Given the description of an element on the screen output the (x, y) to click on. 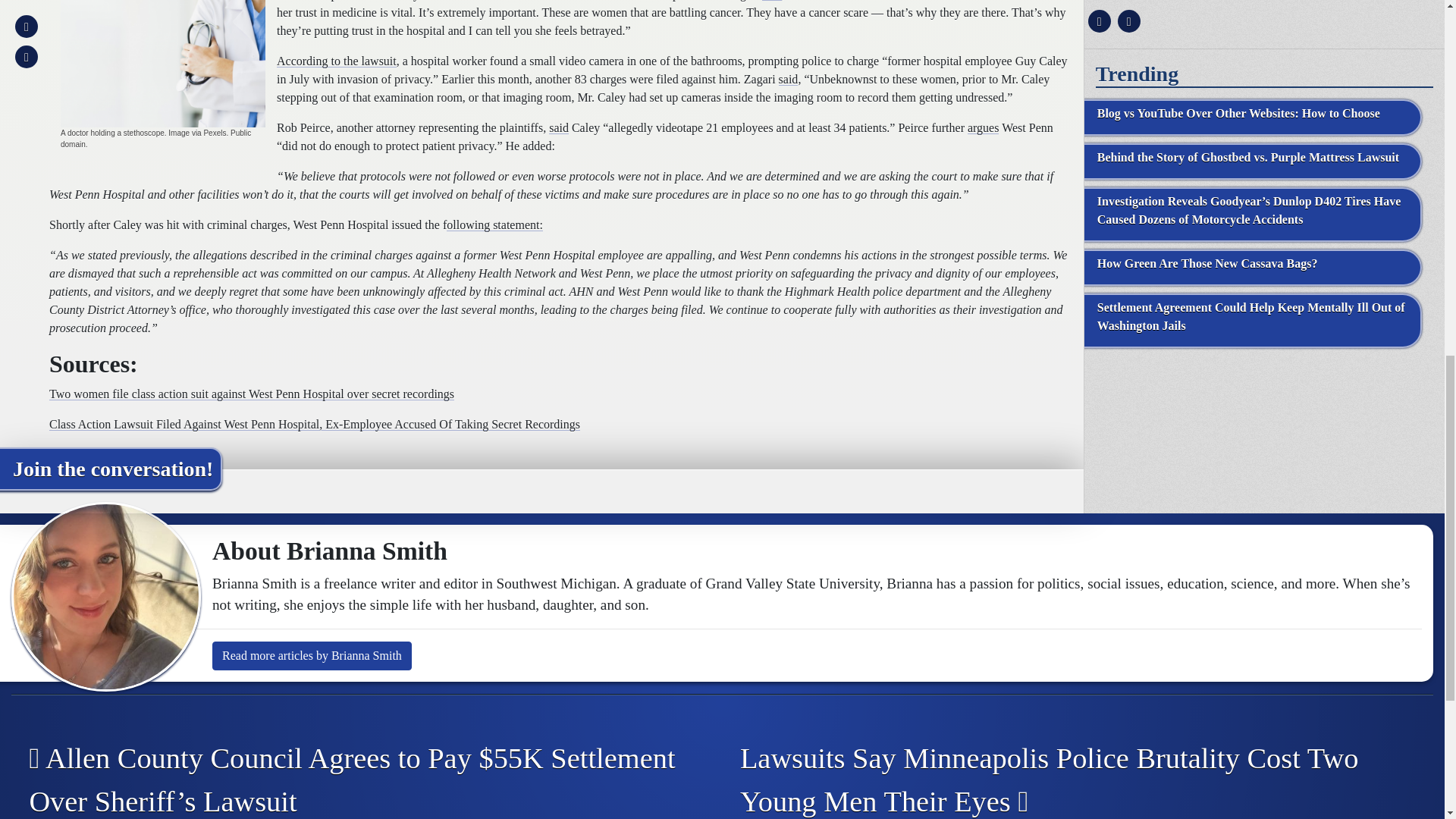
argues (983, 127)
Read more articles by Brianna Smith (312, 655)
said (787, 78)
ollowing statement: (494, 224)
According to the lawsuit (336, 60)
said (558, 127)
Read more articles by Brianna Smith (312, 655)
